Given the description of an element on the screen output the (x, y) to click on. 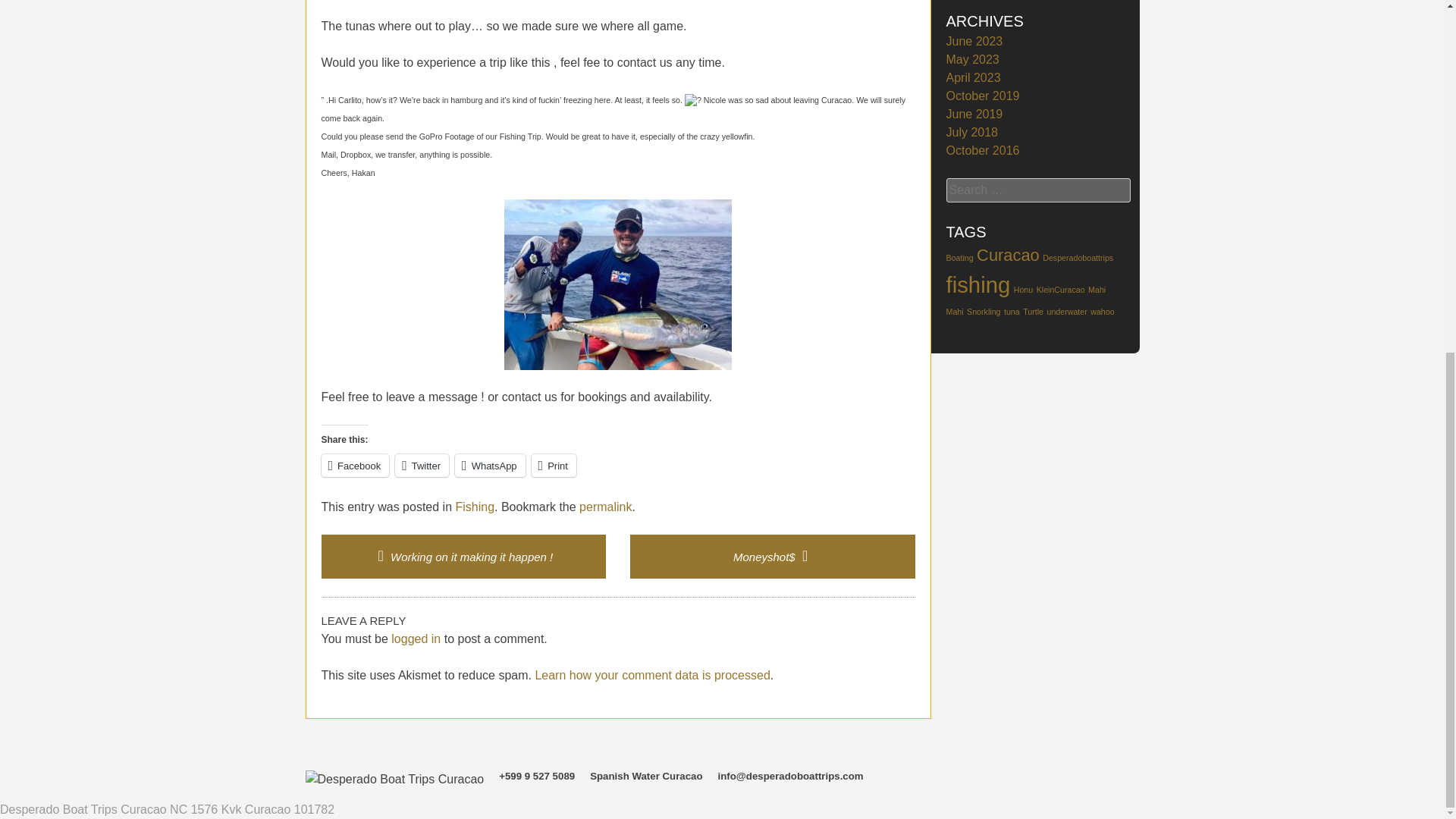
April 2023 (973, 77)
Facebook (355, 465)
Click to share on Facebook (355, 465)
 Working on it making it happen ! (463, 556)
WhatsApp (489, 465)
June 2023 (974, 41)
Twitter (421, 465)
logged in (416, 638)
Learn how your comment data is processed (652, 675)
October 2019 (983, 95)
